Given the description of an element on the screen output the (x, y) to click on. 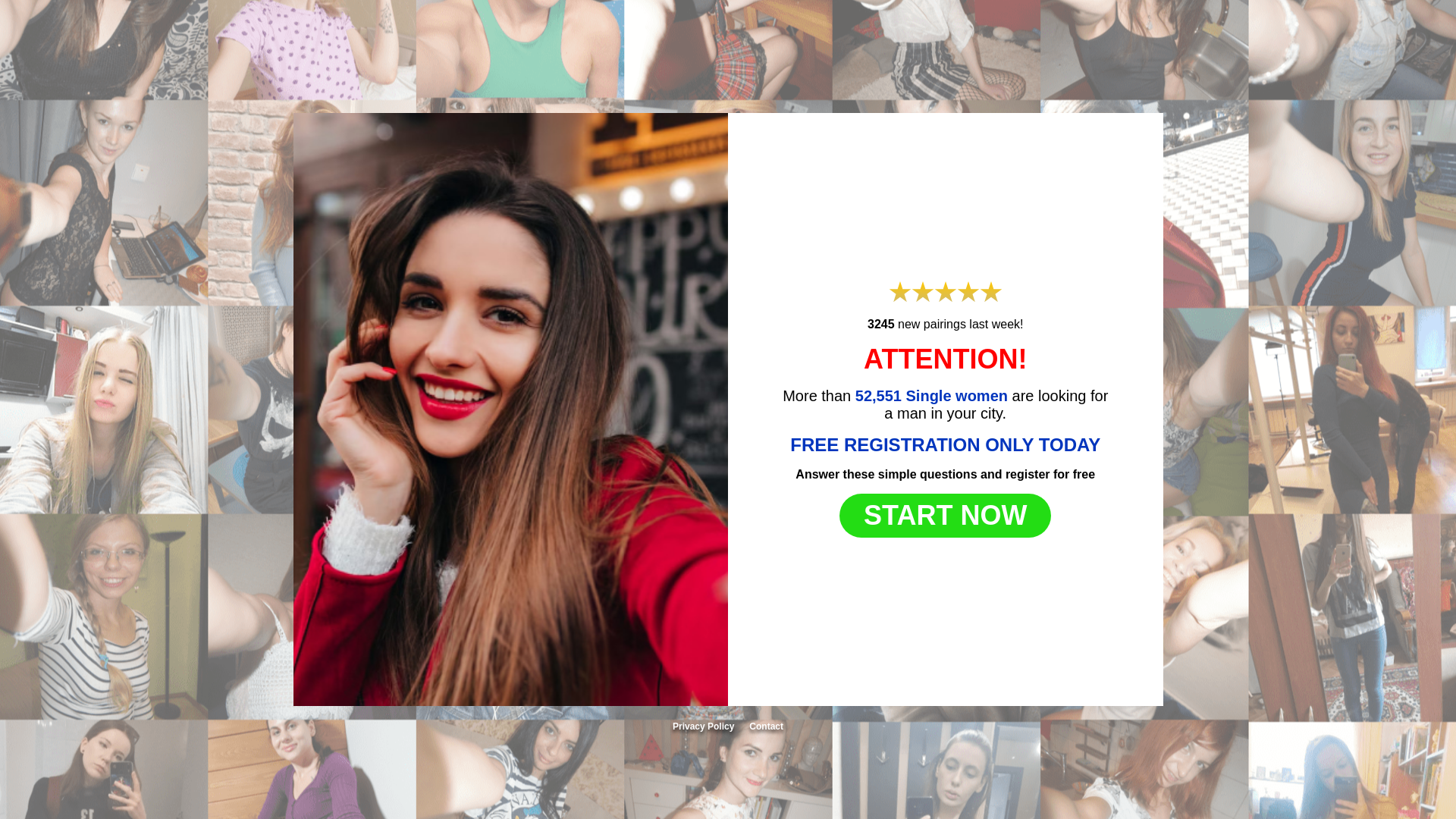
Contact (766, 726)
Privacy Policy (702, 726)
START NOW (945, 515)
